Given the description of an element on the screen output the (x, y) to click on. 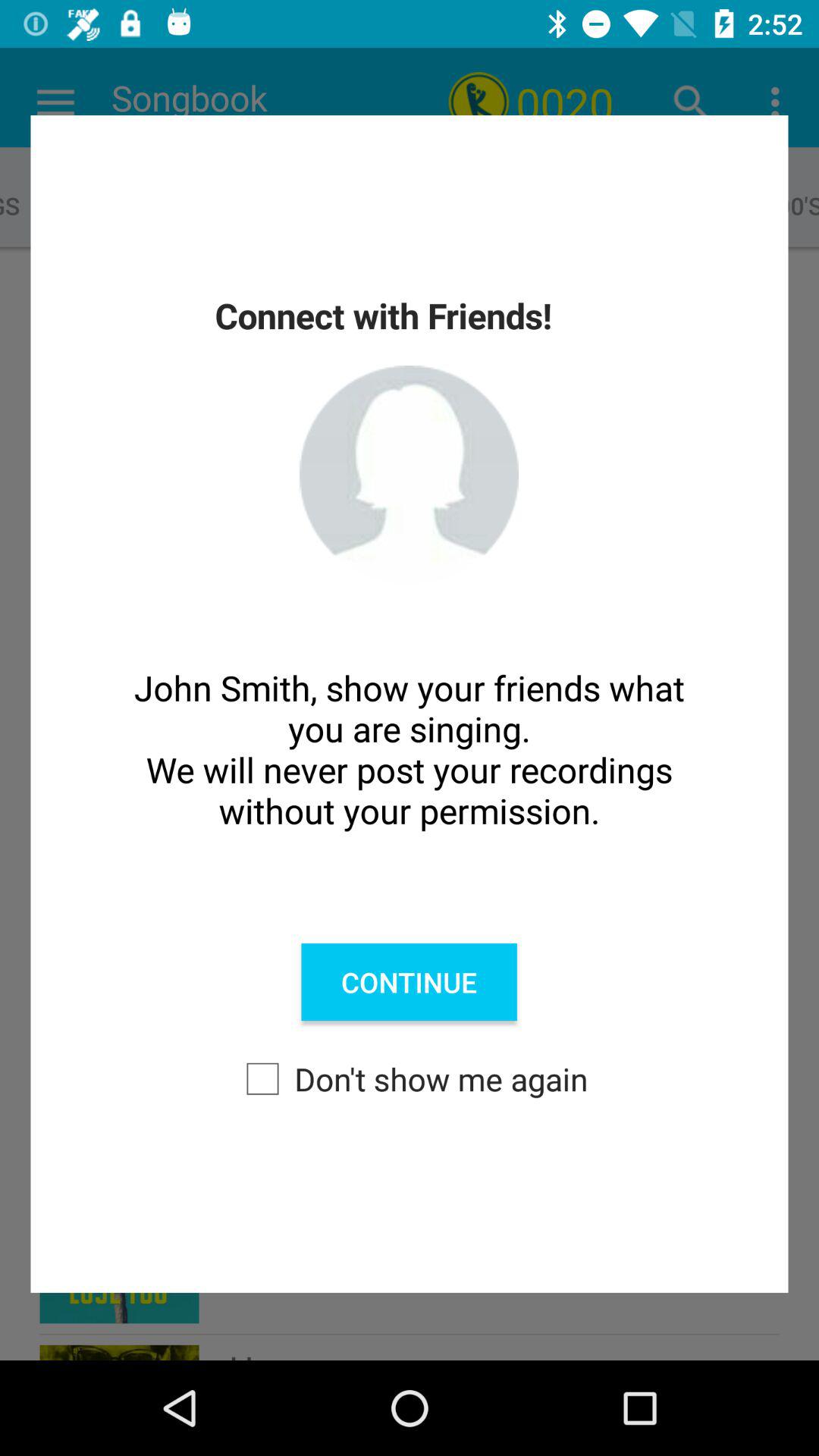
click the icon above the don t show icon (408, 981)
